Given the description of an element on the screen output the (x, y) to click on. 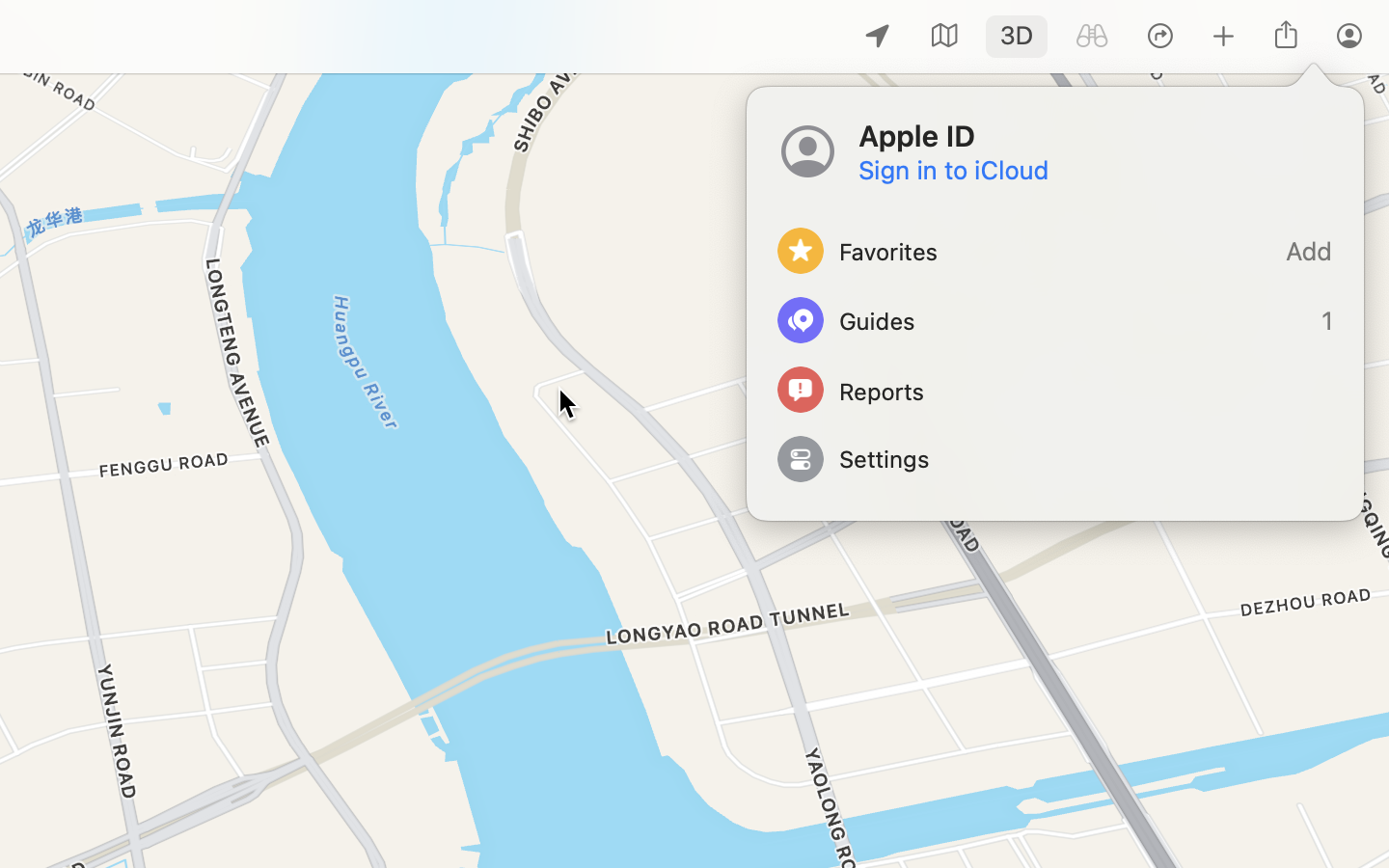
1 Element type: AXCheckBox (1016, 36)
1 Element type: AXButton (1054, 319)
Add Element type: AXButton (1054, 250)
0 Element type: AXCheckBox (1091, 36)
